Given the description of an element on the screen output the (x, y) to click on. 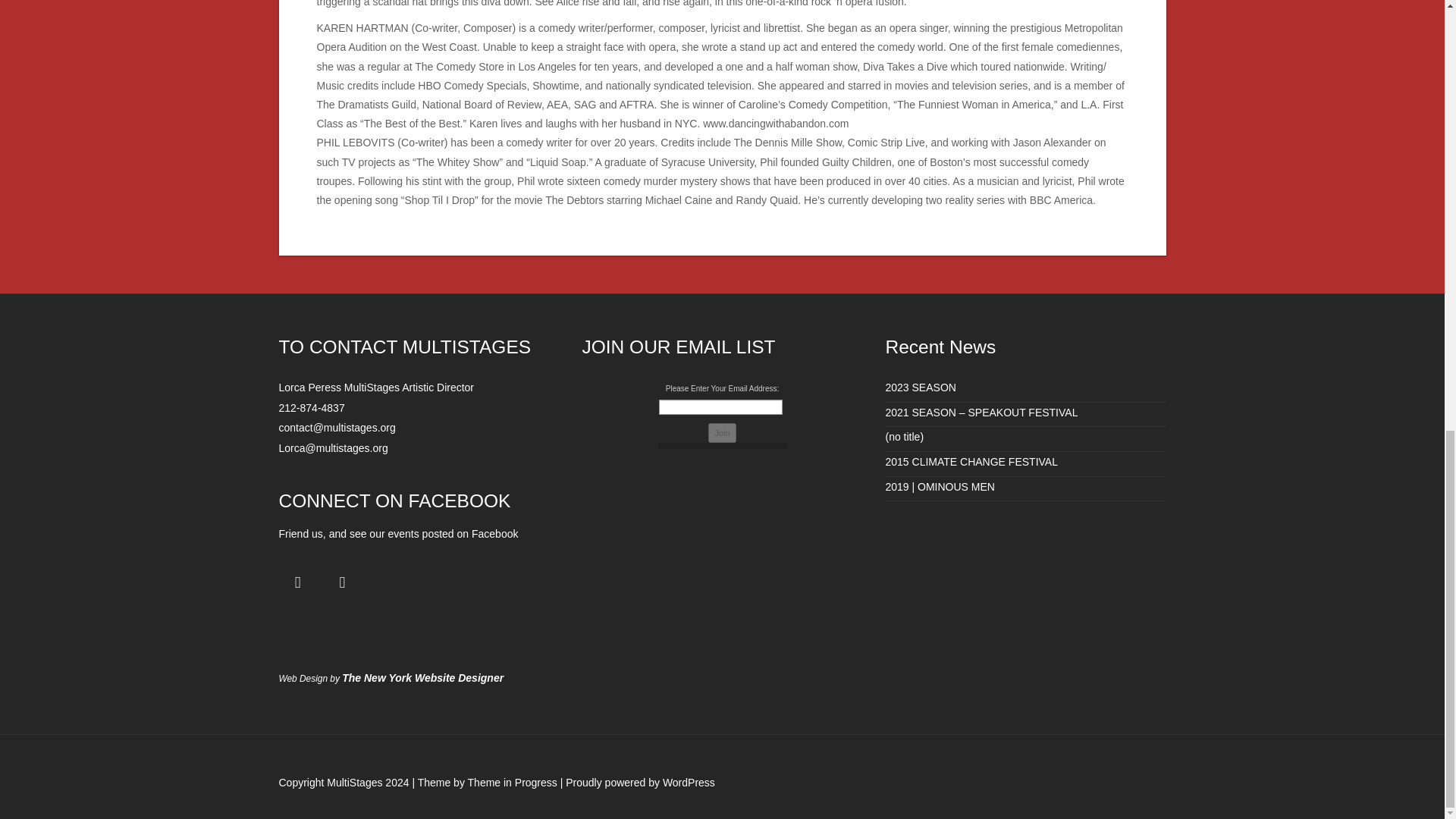
A Semantic Personal Publishing Platform (640, 782)
Join (721, 433)
The New York Website Designer (422, 677)
Theme in Progress (512, 782)
2015 CLIMATE CHANGE FESTIVAL (971, 461)
Proudly powered by WordPress (640, 782)
2023 SEASON (920, 387)
Join (721, 433)
